Given the description of an element on the screen output the (x, y) to click on. 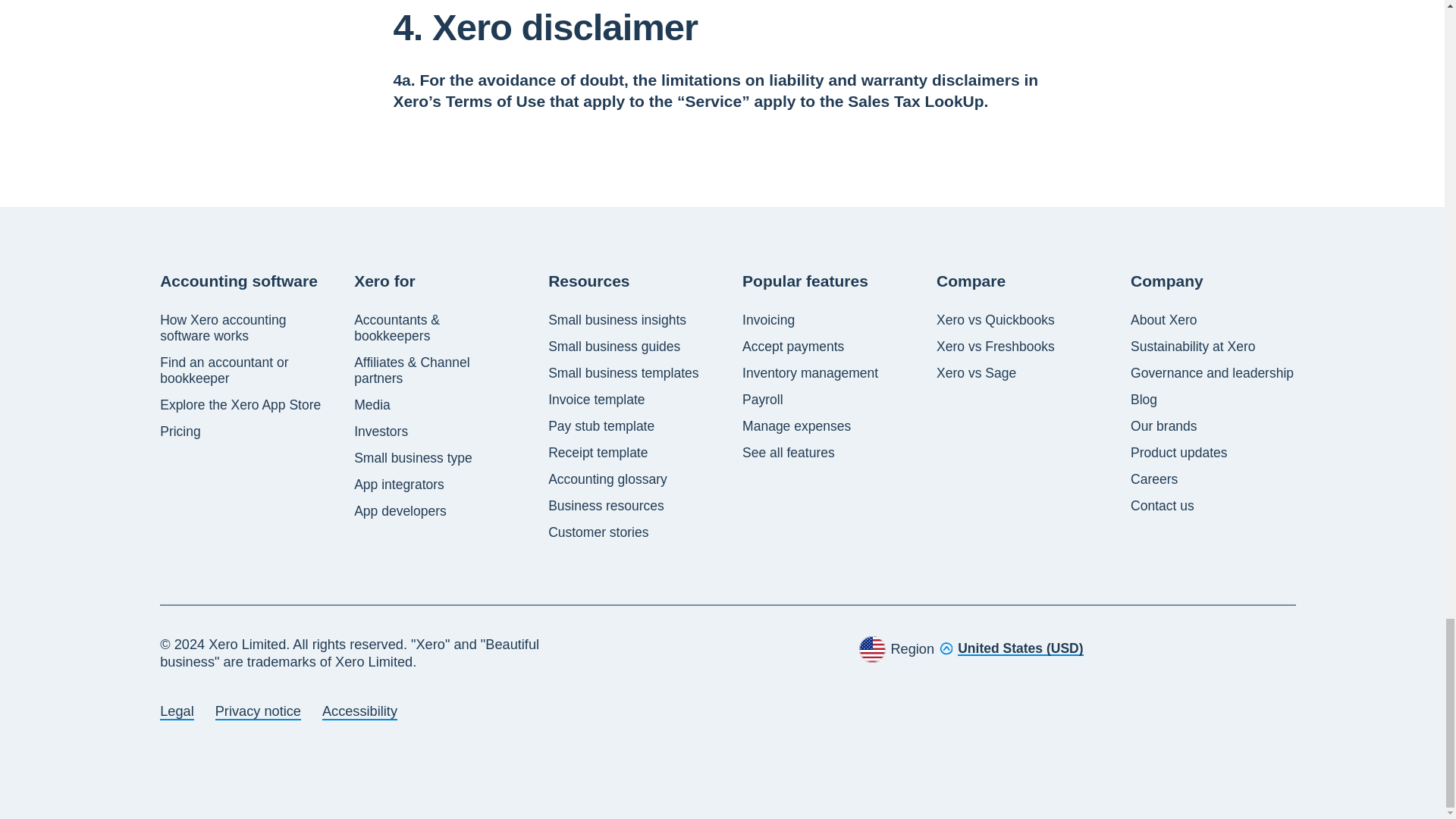
Small business templates (623, 373)
Invoice template (596, 399)
Invoicing (768, 320)
Small business guides (613, 346)
Receipt template (597, 453)
Pay stub template (600, 426)
Explore the Xero App Store (240, 405)
Small business insights (616, 320)
Media (371, 405)
How Xero accounting software works (242, 327)
Find an accountant or bookkeeper (242, 370)
App integrators (398, 484)
Pricing (180, 431)
App developers (399, 511)
Small business type (412, 458)
